Given the description of an element on the screen output the (x, y) to click on. 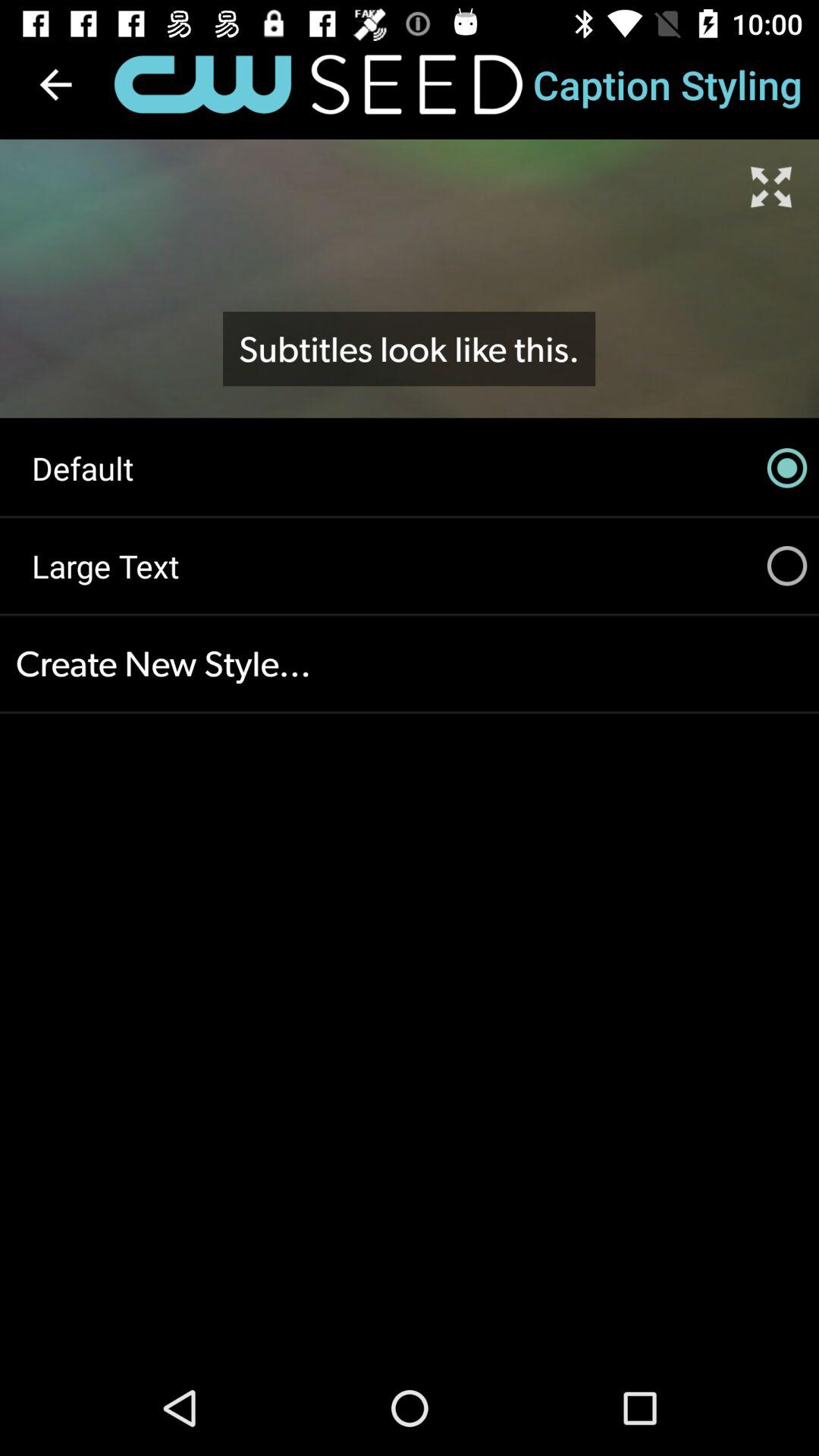
jump to the create new style... item (409, 663)
